Given the description of an element on the screen output the (x, y) to click on. 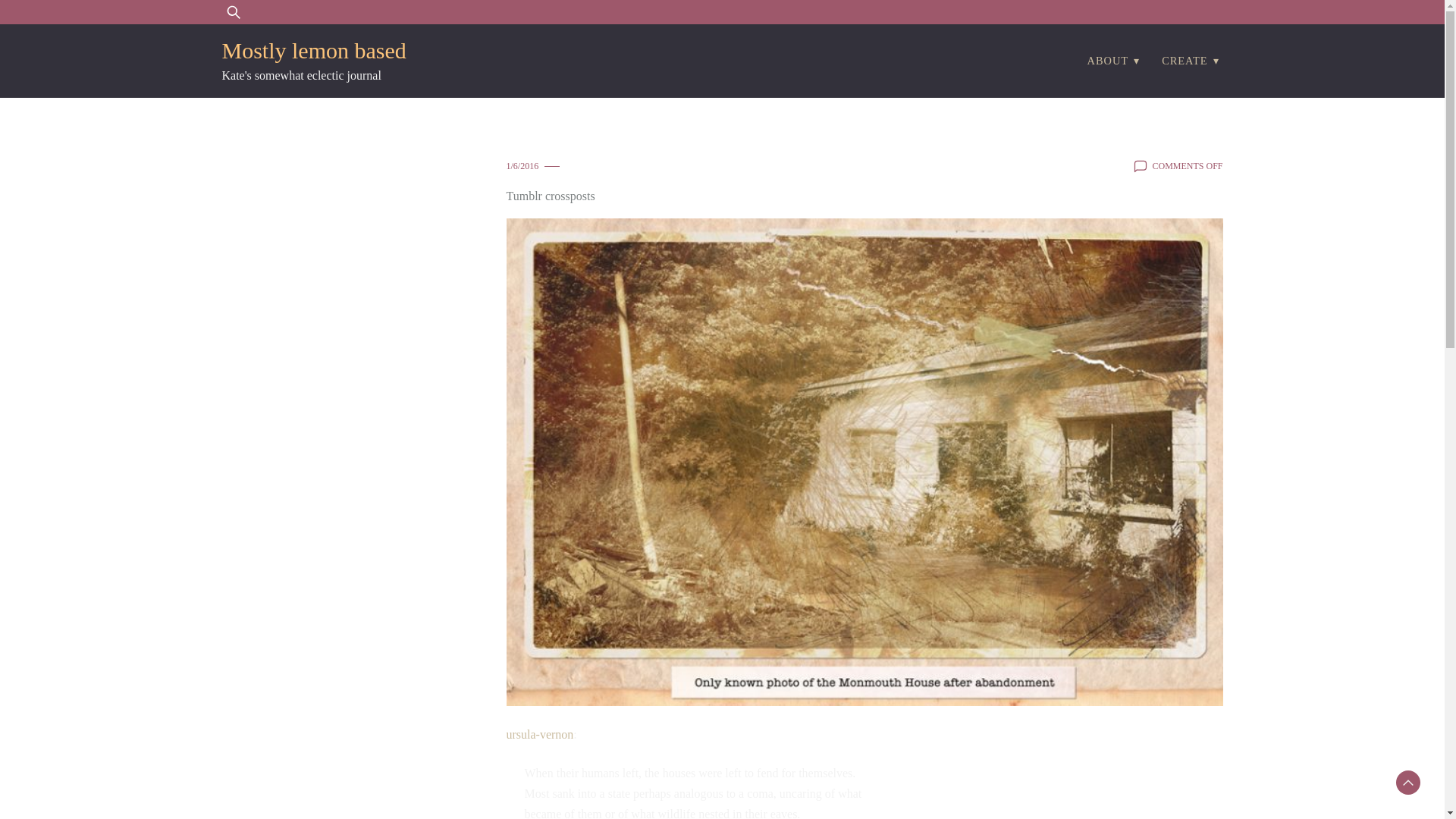
Search (56, 21)
CREATE (1185, 60)
ABOUT (1107, 60)
ursula-vernon (539, 734)
Tumblr crossposts (550, 195)
Mostly lemon based (313, 50)
